Given the description of an element on the screen output the (x, y) to click on. 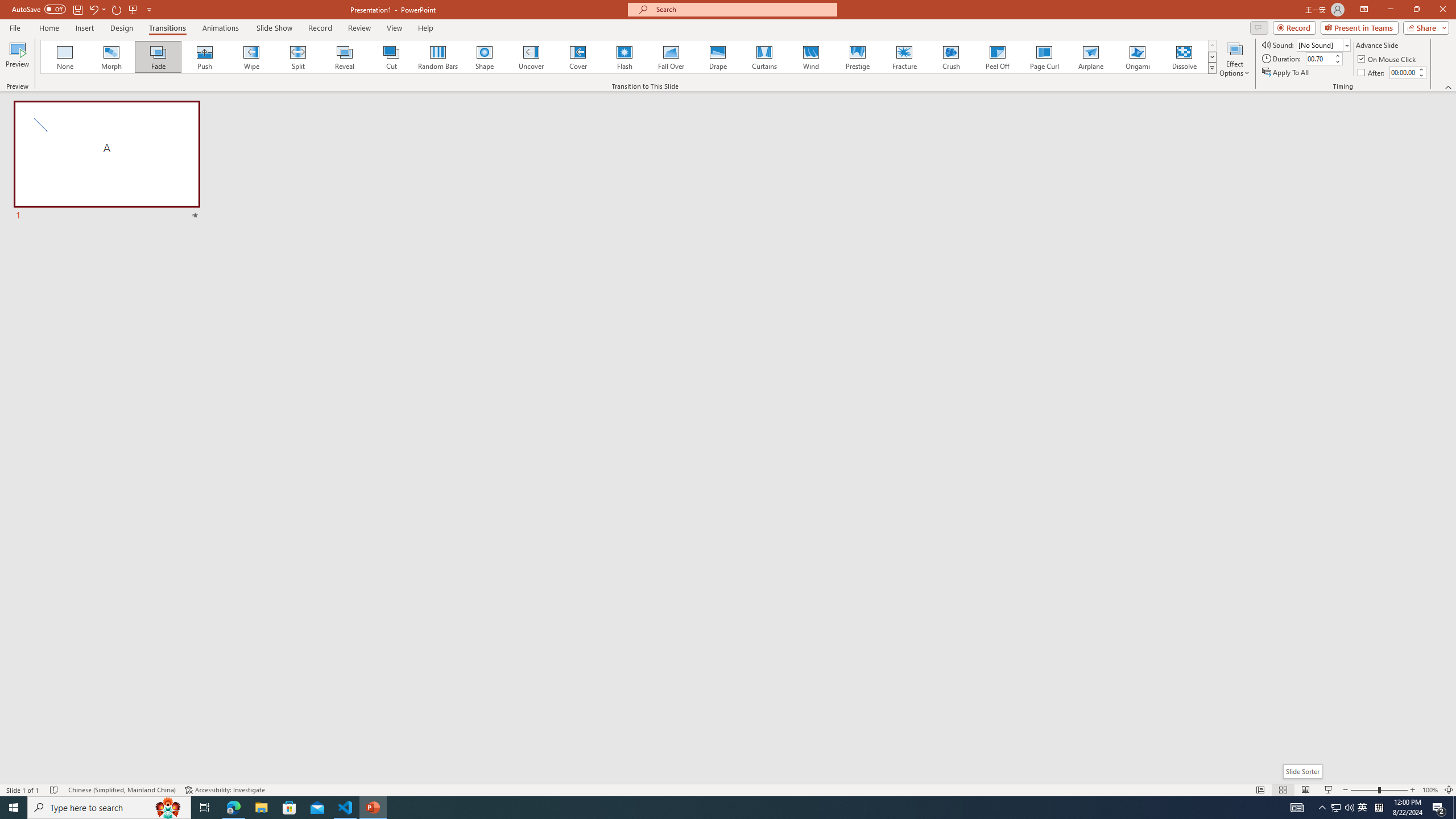
Slide A (106, 161)
Sound (1324, 44)
After (1403, 72)
After (1372, 72)
Crush (950, 56)
